Given the description of an element on the screen output the (x, y) to click on. 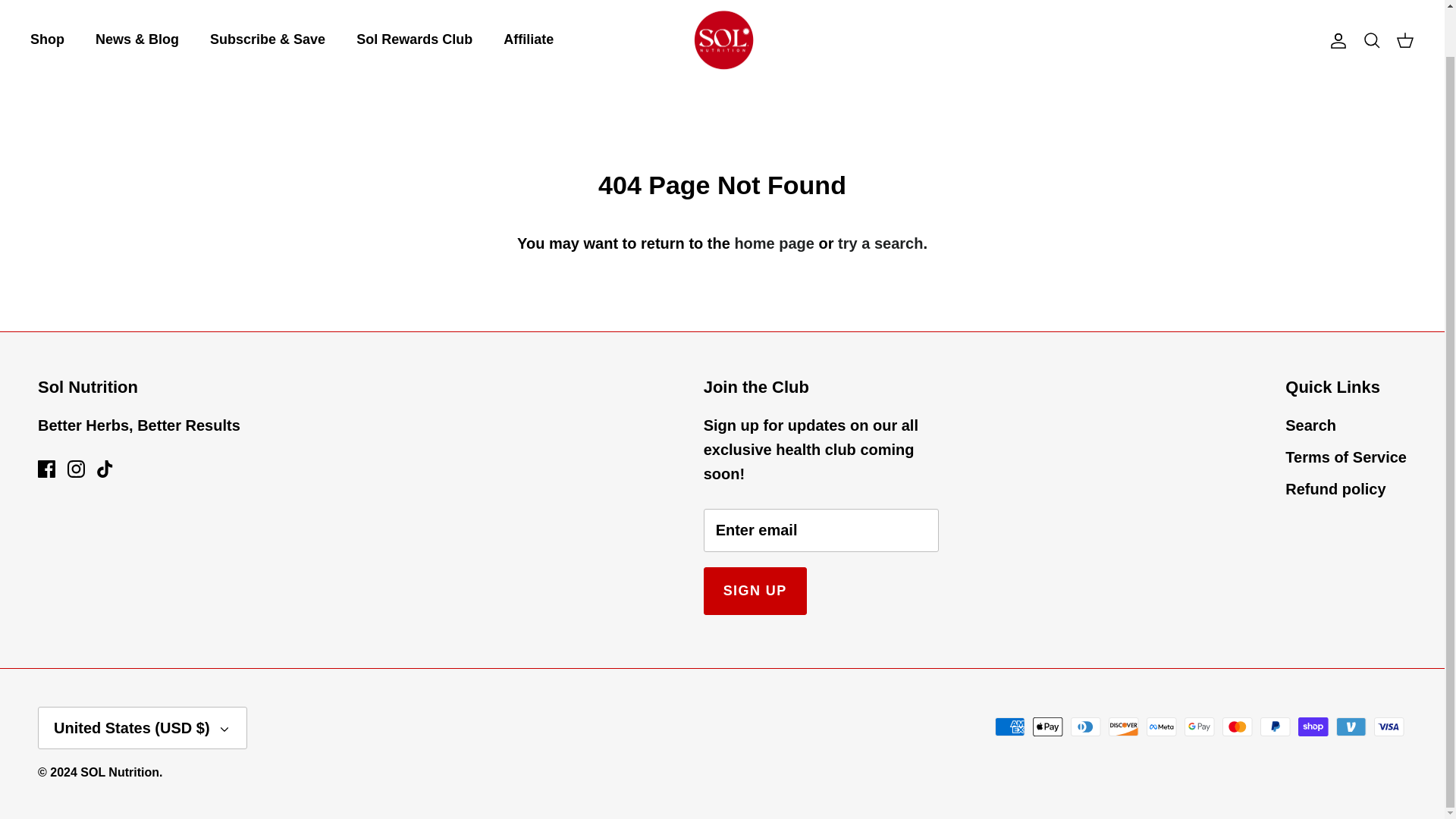
Discover (1123, 726)
Facebook (46, 468)
Shop (47, 39)
Affiliate (528, 39)
Instagram (75, 468)
Meta Pay (1161, 726)
Shop Pay (1312, 726)
PayPal (1275, 726)
Sol Rewards Club (414, 39)
Mastercard (1237, 726)
